Given the description of an element on the screen output the (x, y) to click on. 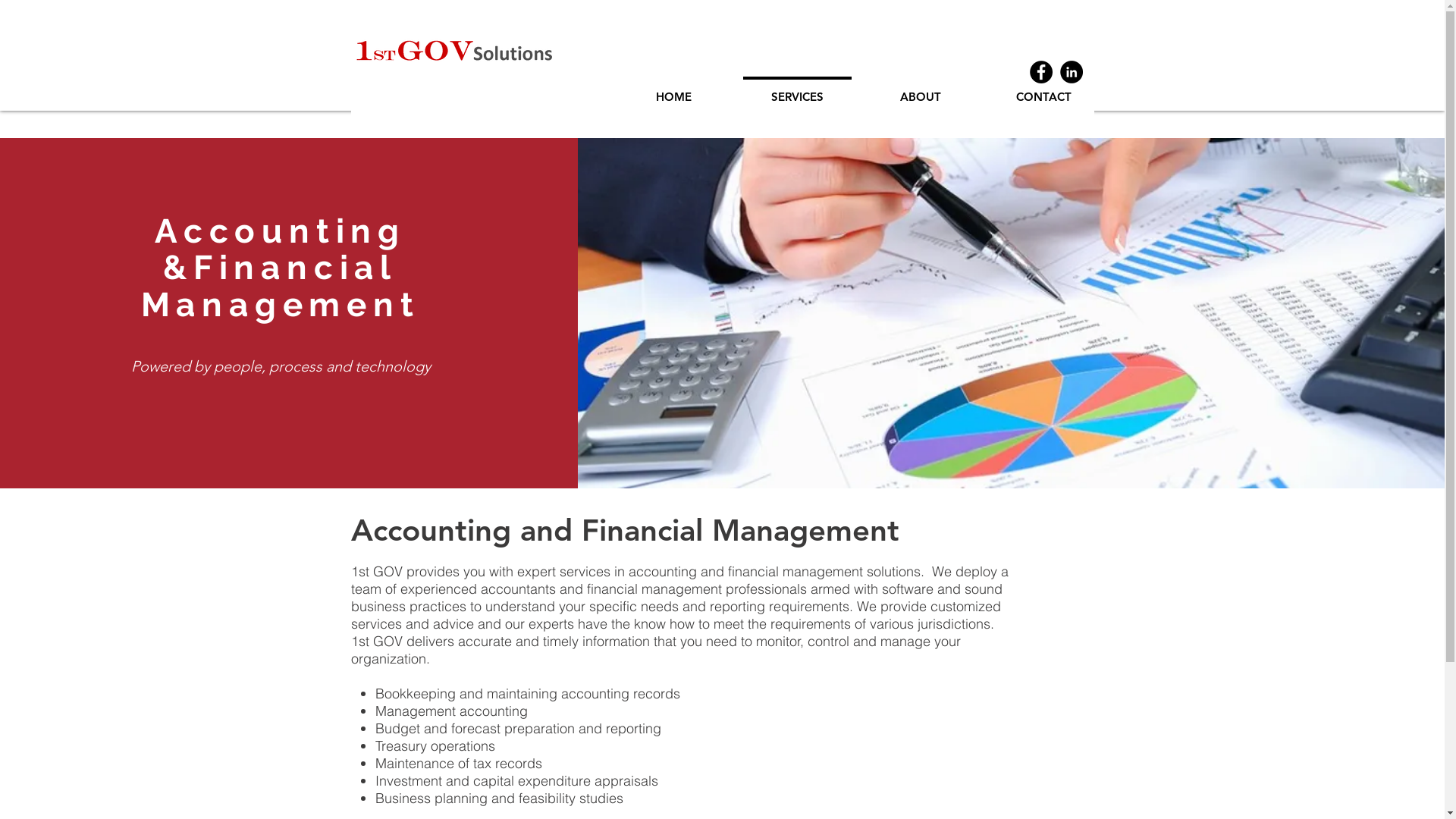
ABOUT Element type: text (920, 89)
CONTACT Element type: text (1043, 89)
SERVICES Element type: text (797, 89)
HOME Element type: text (672, 89)
